Given the description of an element on the screen output the (x, y) to click on. 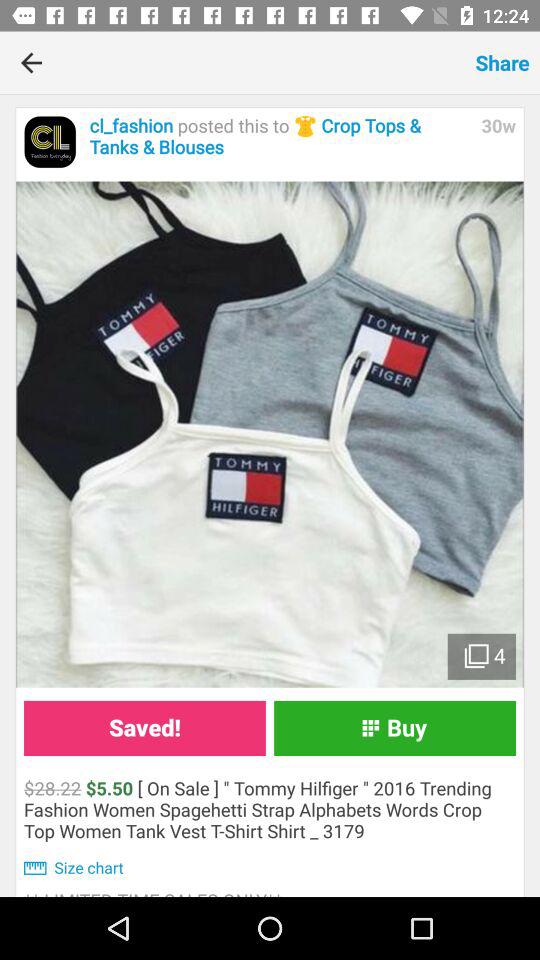
launch the icon above the saved! item (269, 434)
